Given the description of an element on the screen output the (x, y) to click on. 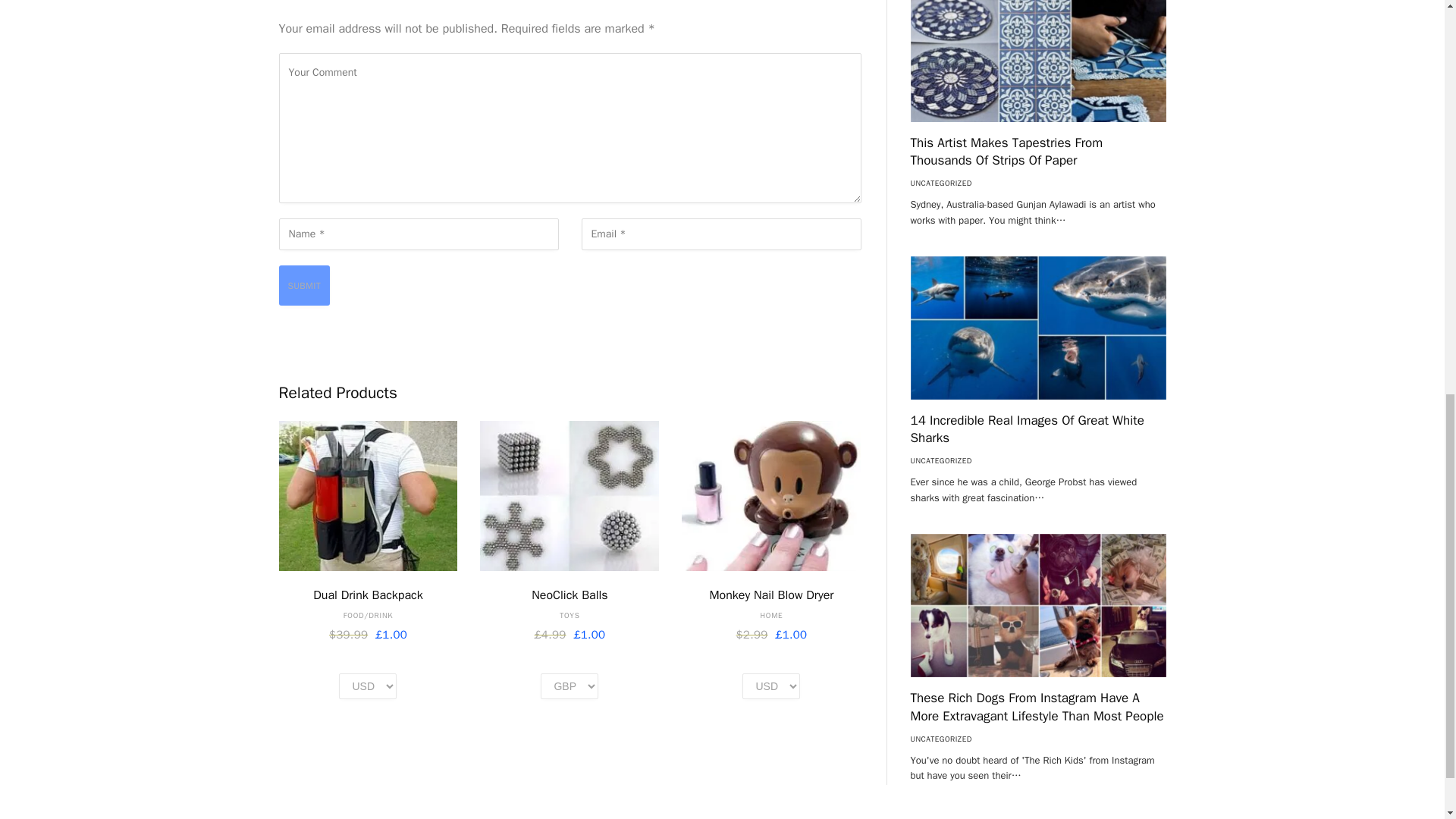
Select one (367, 686)
Submit (304, 285)
